Given the description of an element on the screen output the (x, y) to click on. 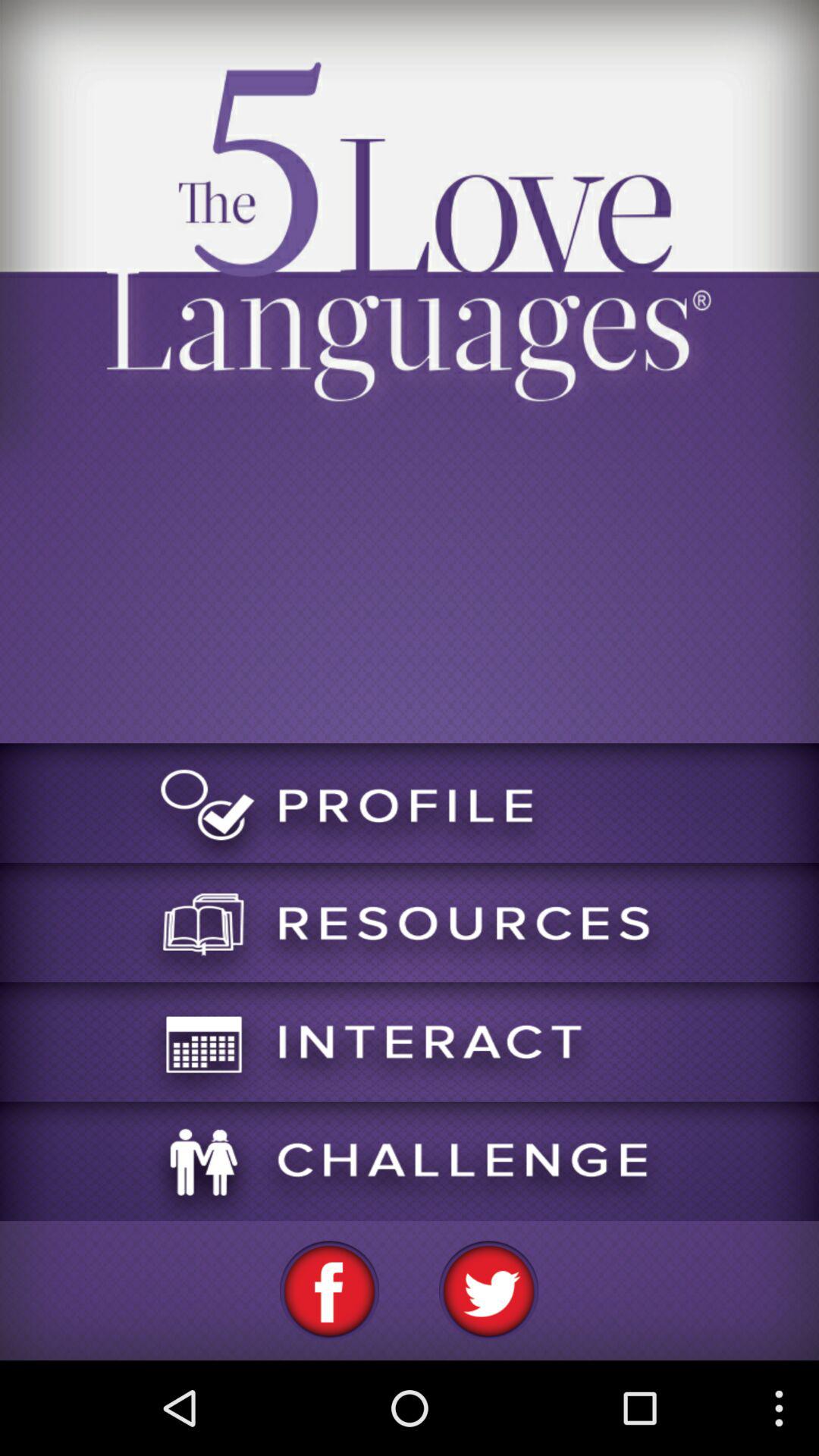
click resource (409, 922)
